Given the description of an element on the screen output the (x, y) to click on. 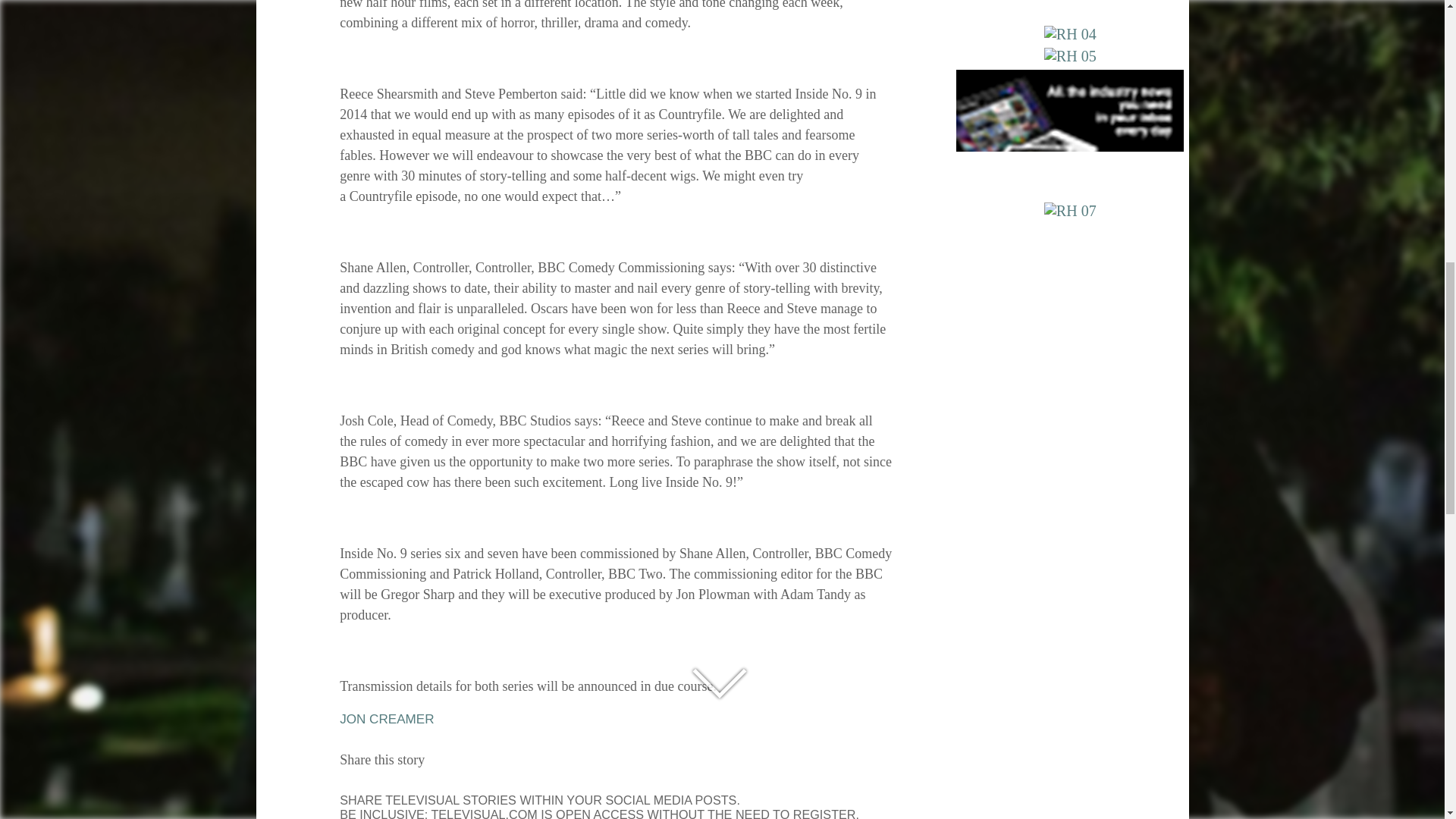
JON CREAMER (386, 718)
